Given the description of an element on the screen output the (x, y) to click on. 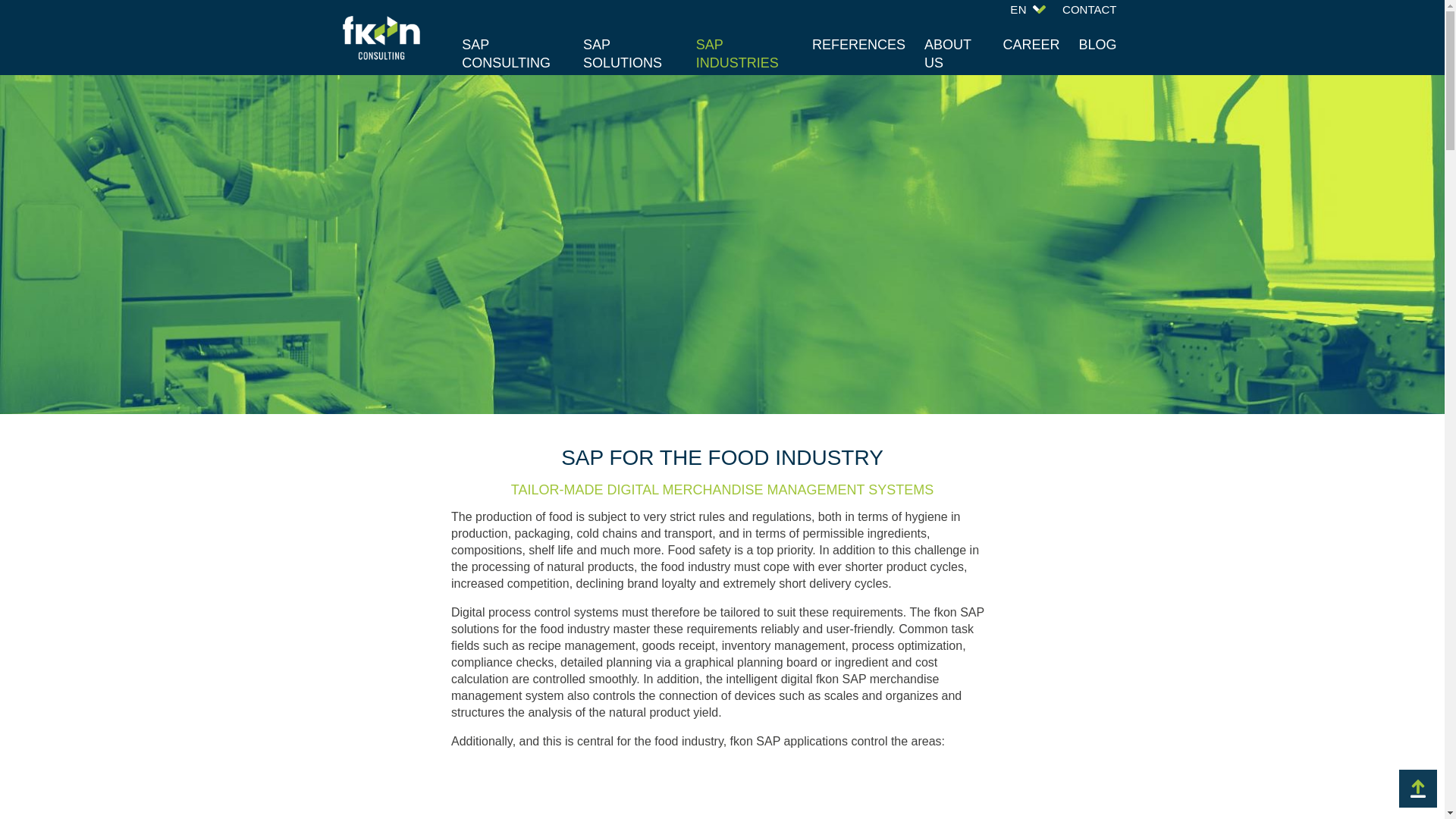
REFERENCES (858, 44)
CAREER (1031, 44)
EN (1029, 9)
SAP INDUSTRIES (744, 54)
BLOG (1097, 44)
SAP SOLUTIONS (630, 54)
ABOUT US (947, 53)
SAP CONSULTING (512, 54)
CONTACT (1089, 9)
